Given the description of an element on the screen output the (x, y) to click on. 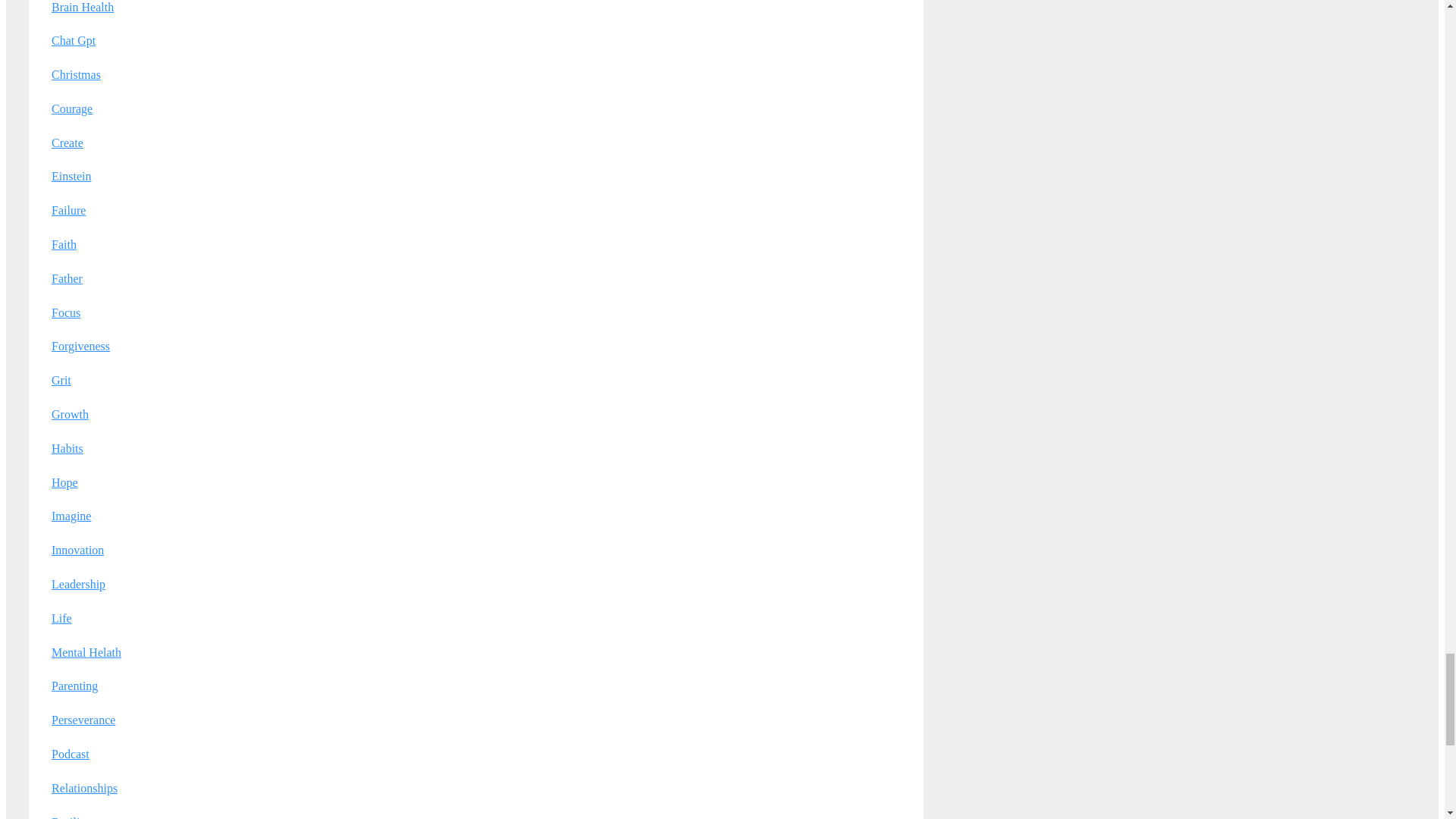
Einstein (70, 175)
Brain Health (81, 6)
Create (66, 142)
Forgiveness (80, 345)
Christmas (75, 74)
Chat Gpt (73, 40)
Faith (63, 244)
Courage (71, 108)
Failure (67, 210)
Grit (60, 379)
